Given the description of an element on the screen output the (x, y) to click on. 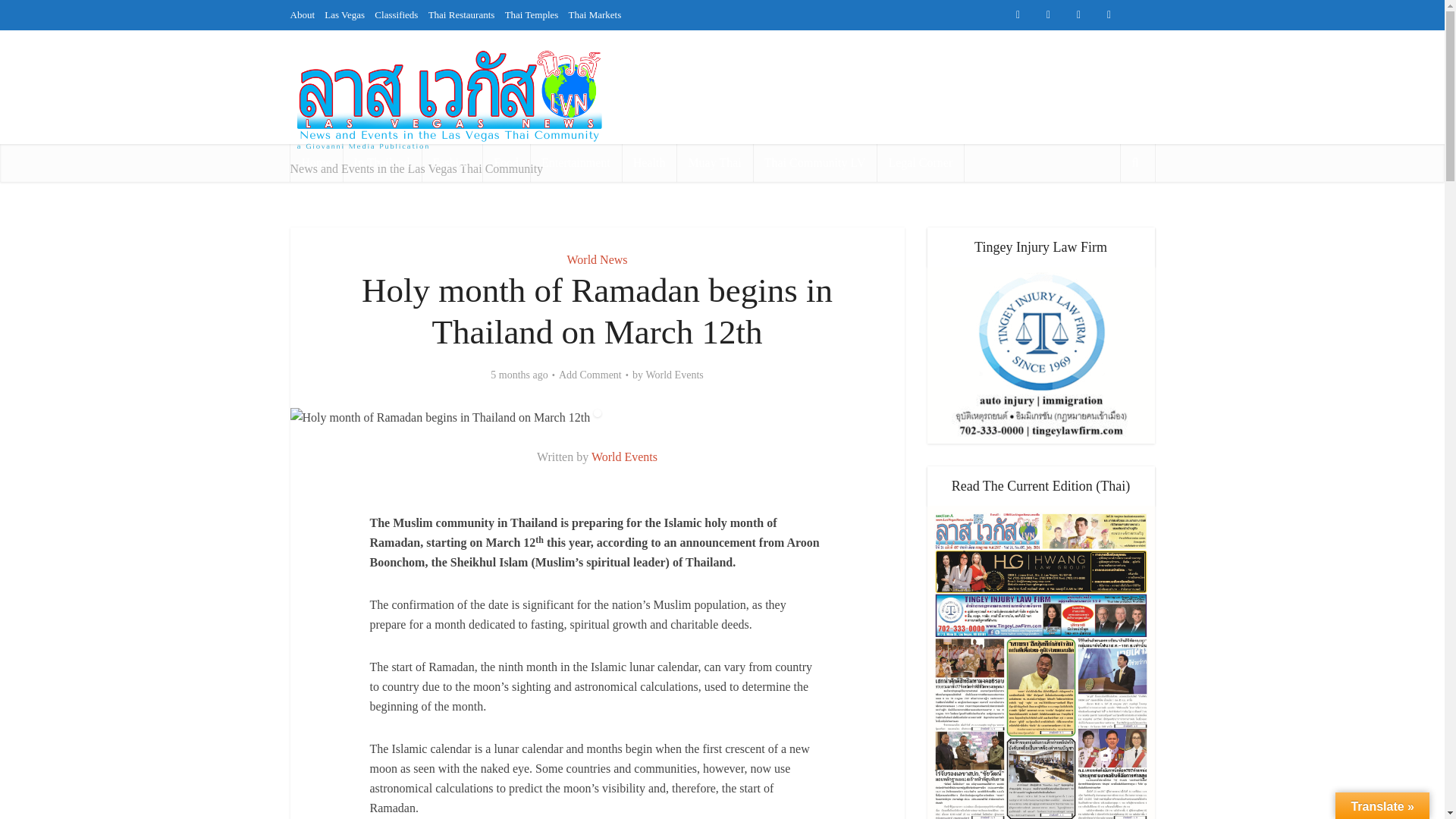
Holy month of Ramadan begins in Thailand on March 12th (439, 417)
World Events (674, 375)
Classifieds (689, 44)
World News (596, 259)
Health (649, 162)
Thai Restaurants (461, 14)
Food (505, 162)
World Events (624, 456)
About (597, 44)
Las Vegas (344, 14)
